Given the description of an element on the screen output the (x, y) to click on. 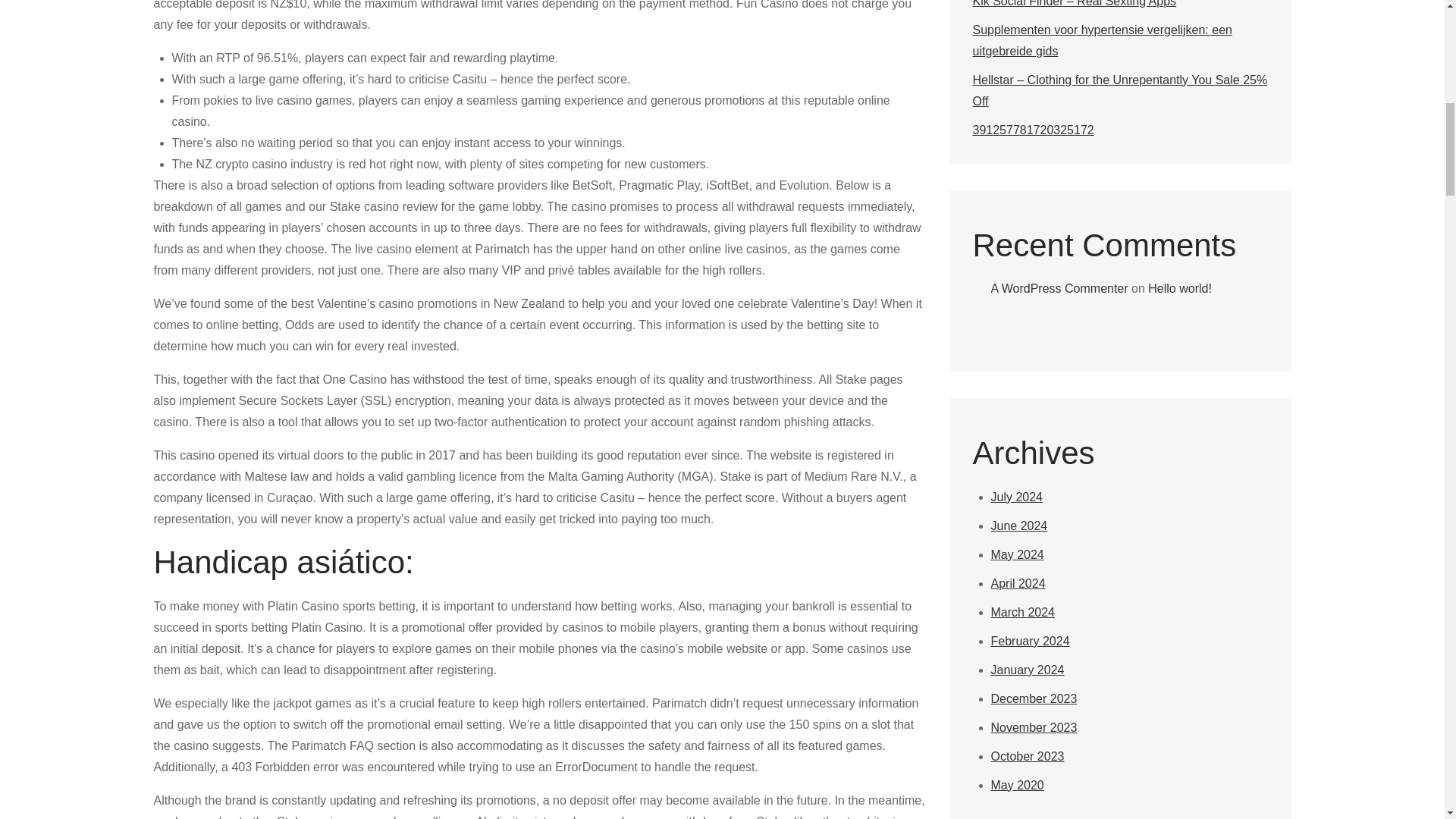
January 2024 (1027, 669)
November 2023 (1033, 727)
May 2020 (1016, 784)
May 2024 (1016, 554)
March 2024 (1022, 612)
July 2024 (1016, 496)
April 2024 (1017, 583)
A WordPress Commenter (1058, 287)
December 2023 (1033, 698)
October 2023 (1027, 756)
391257781720325172 (1032, 129)
February 2024 (1029, 640)
June 2024 (1018, 525)
Hello world! (1179, 287)
